Given the description of an element on the screen output the (x, y) to click on. 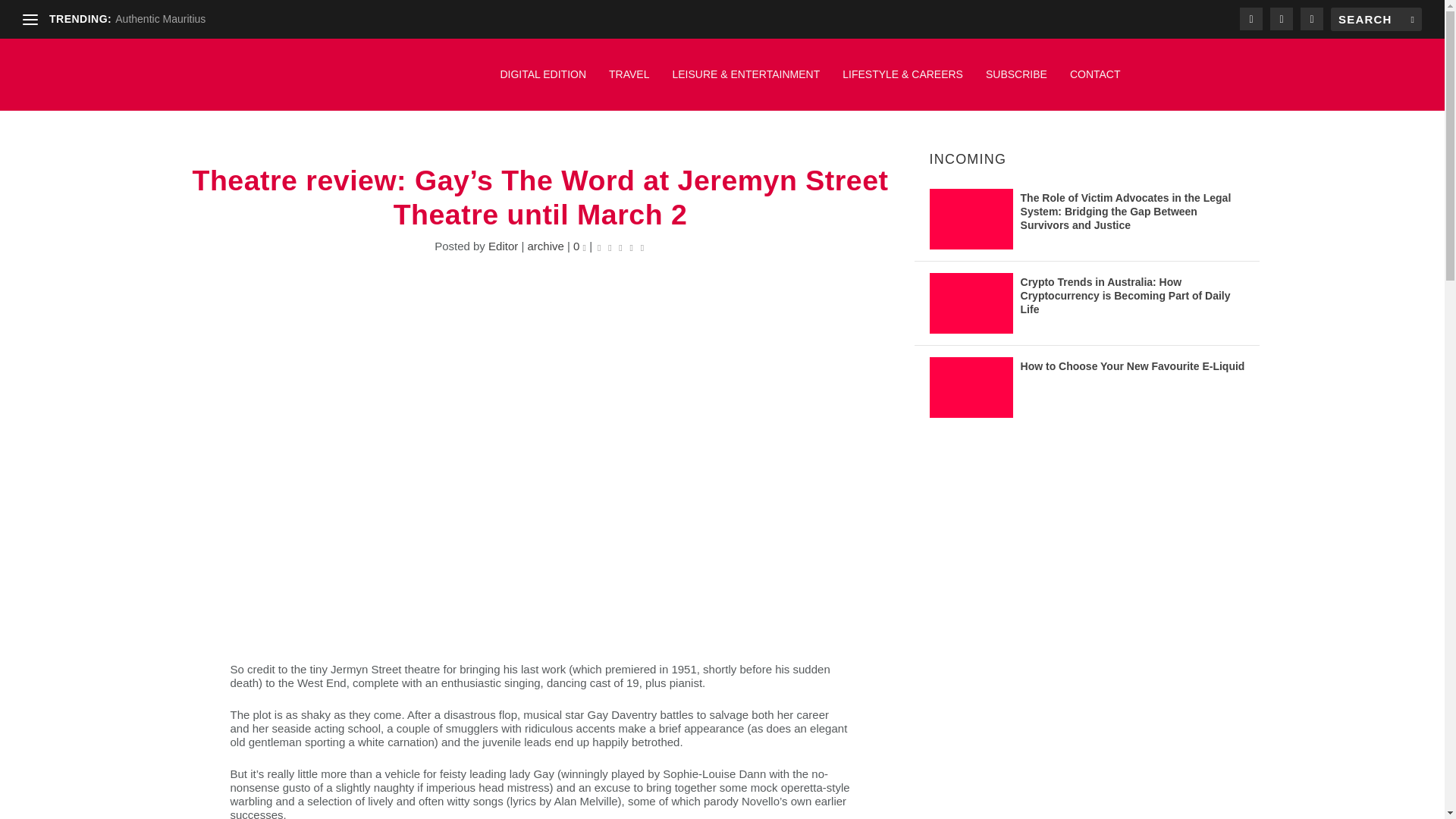
Search for: (1376, 19)
archive (545, 245)
Authentic Mauritius (160, 19)
SUBSCRIBE (1015, 82)
Posts by Editor (502, 245)
0 (579, 245)
Editor (502, 245)
Rating: 0.00 (620, 246)
DIGITAL EDITION (542, 82)
